Given the description of an element on the screen output the (x, y) to click on. 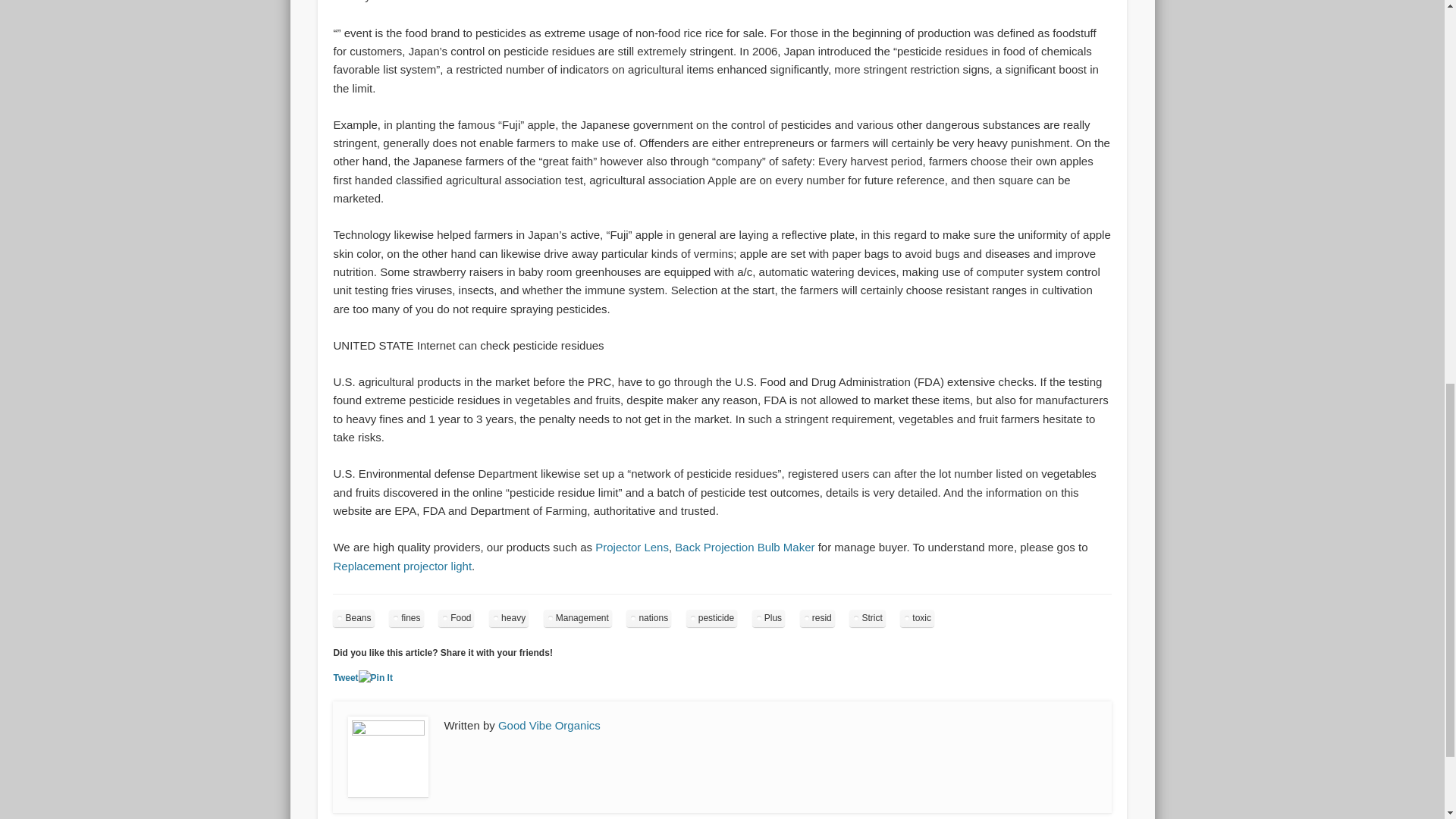
Management (577, 618)
Tweet (345, 677)
heavy (508, 618)
Back Projection Bulb Maker (744, 546)
Beans (353, 618)
fines (405, 618)
Strict (866, 618)
Replacement projector light (402, 565)
pesticide (710, 618)
toxic (916, 618)
Pin It (375, 678)
Projector Lens (631, 546)
nations (648, 618)
Food (456, 618)
Posts by Good Vibe Organics (548, 725)
